Given the description of an element on the screen output the (x, y) to click on. 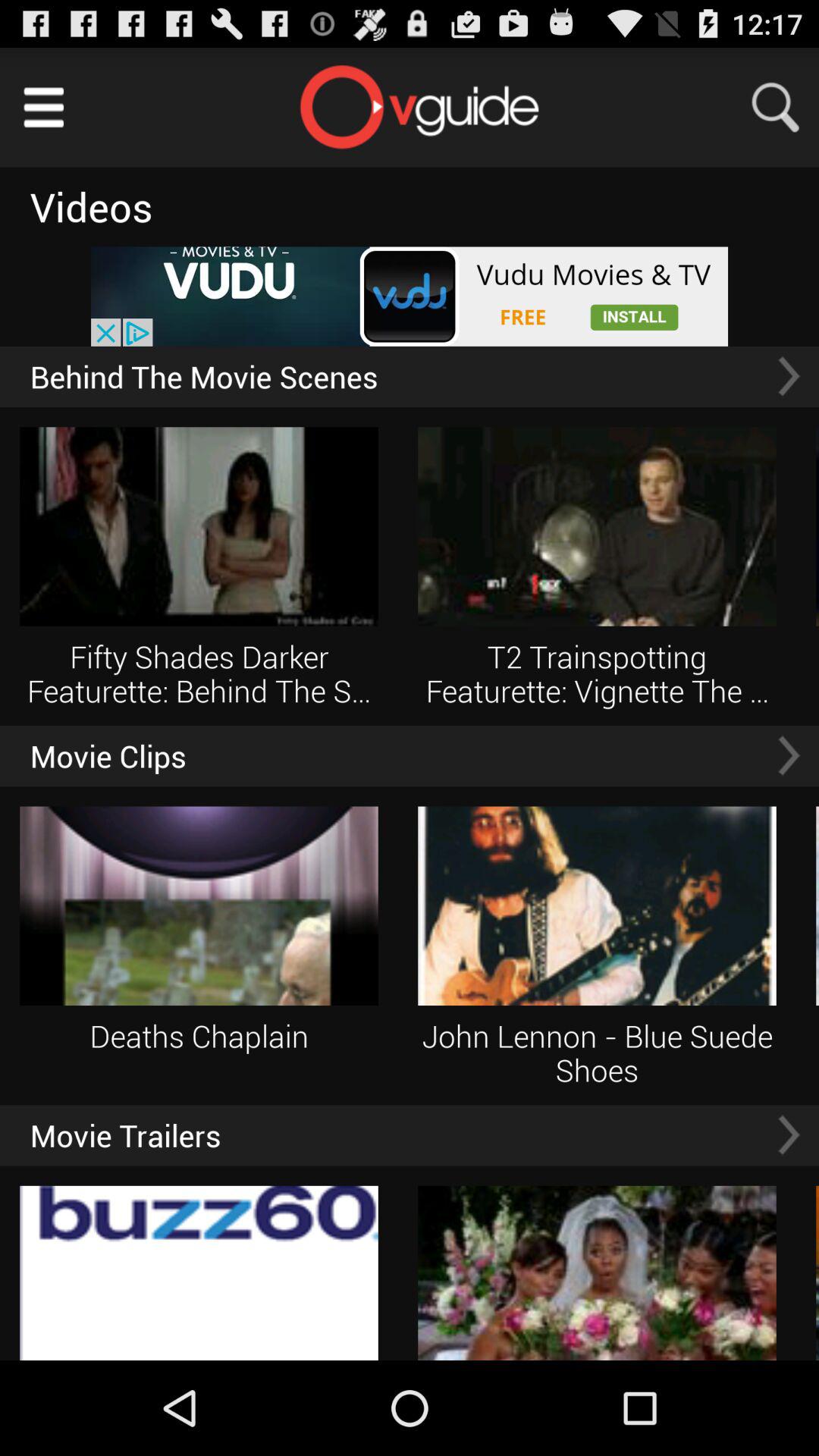
menu button (43, 107)
